Given the description of an element on the screen output the (x, y) to click on. 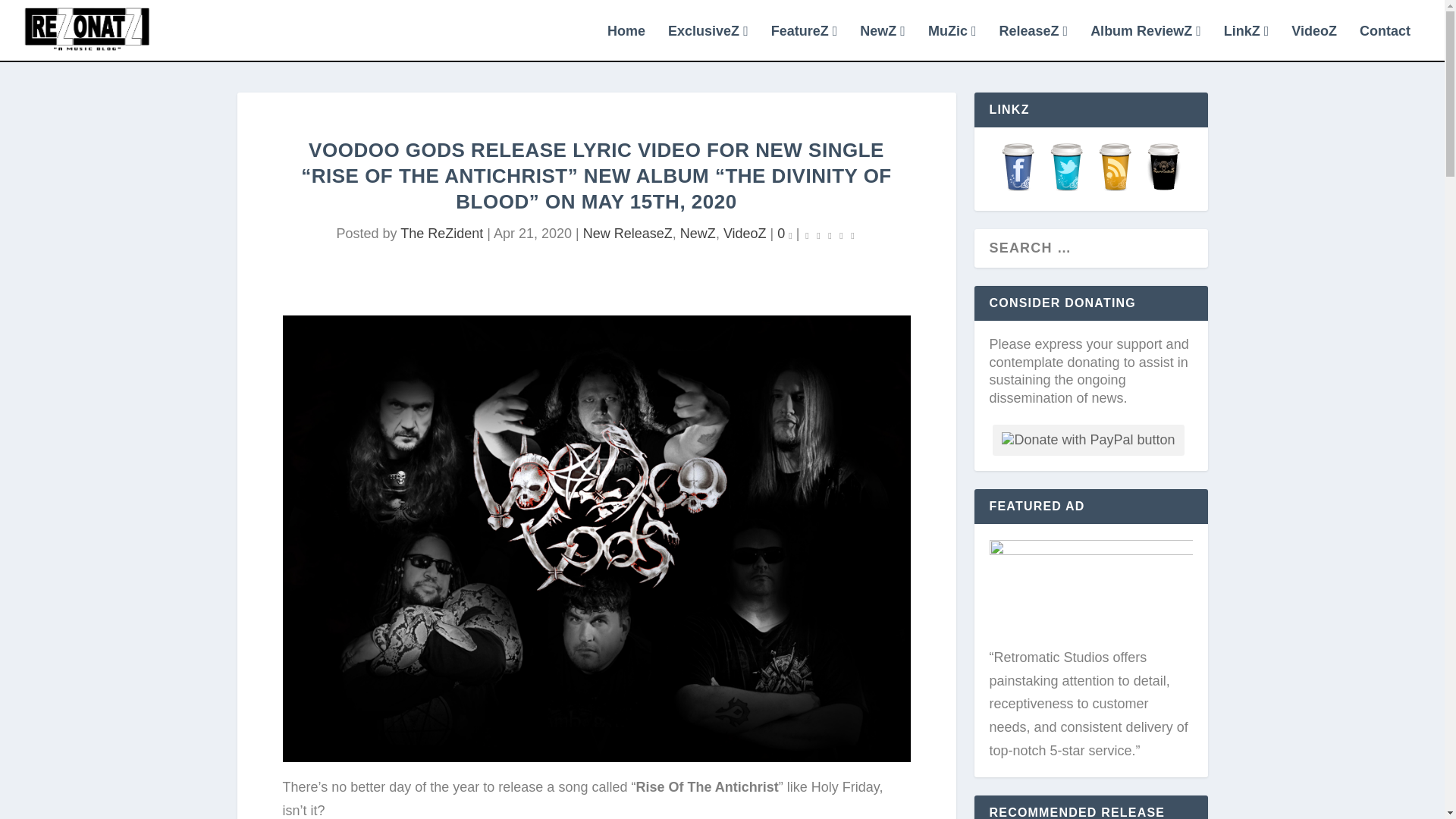
NewZ (697, 233)
Home (626, 42)
VideoZ (1313, 42)
Contact (1384, 42)
VideoZ (745, 233)
New ReleaseZ (627, 233)
ExclusiveZ (708, 42)
0 (784, 233)
ReleaseZ (1032, 42)
Posts by The ReZident (441, 233)
